Given the description of an element on the screen output the (x, y) to click on. 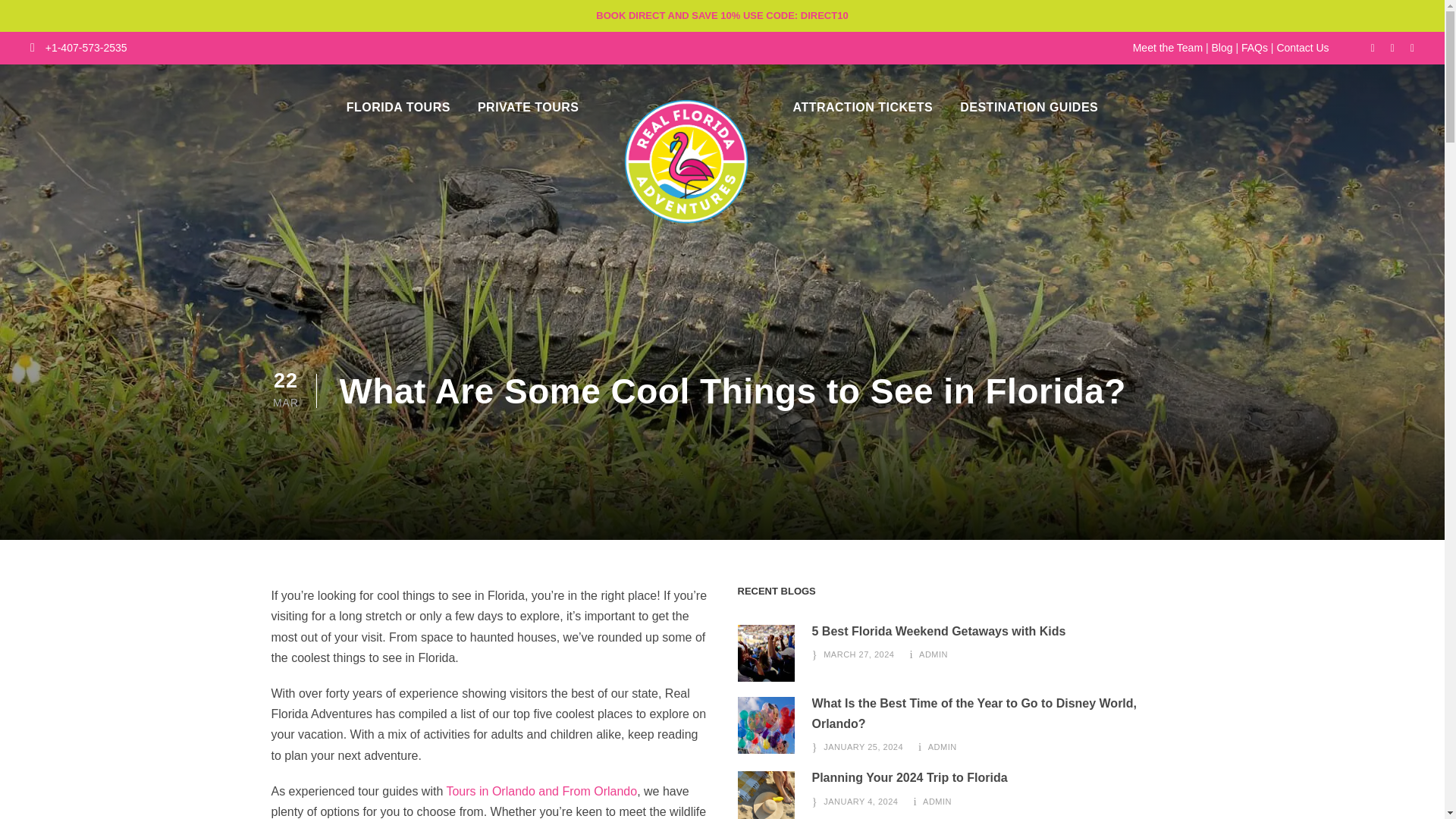
Photo by Brian McGowan on Unsplash (764, 724)
About Real Florida Adventures (764, 652)
Posts by admin (932, 654)
Posts by admin (942, 746)
Posts by admin (937, 800)
image-36 (764, 795)
